Given the description of an element on the screen output the (x, y) to click on. 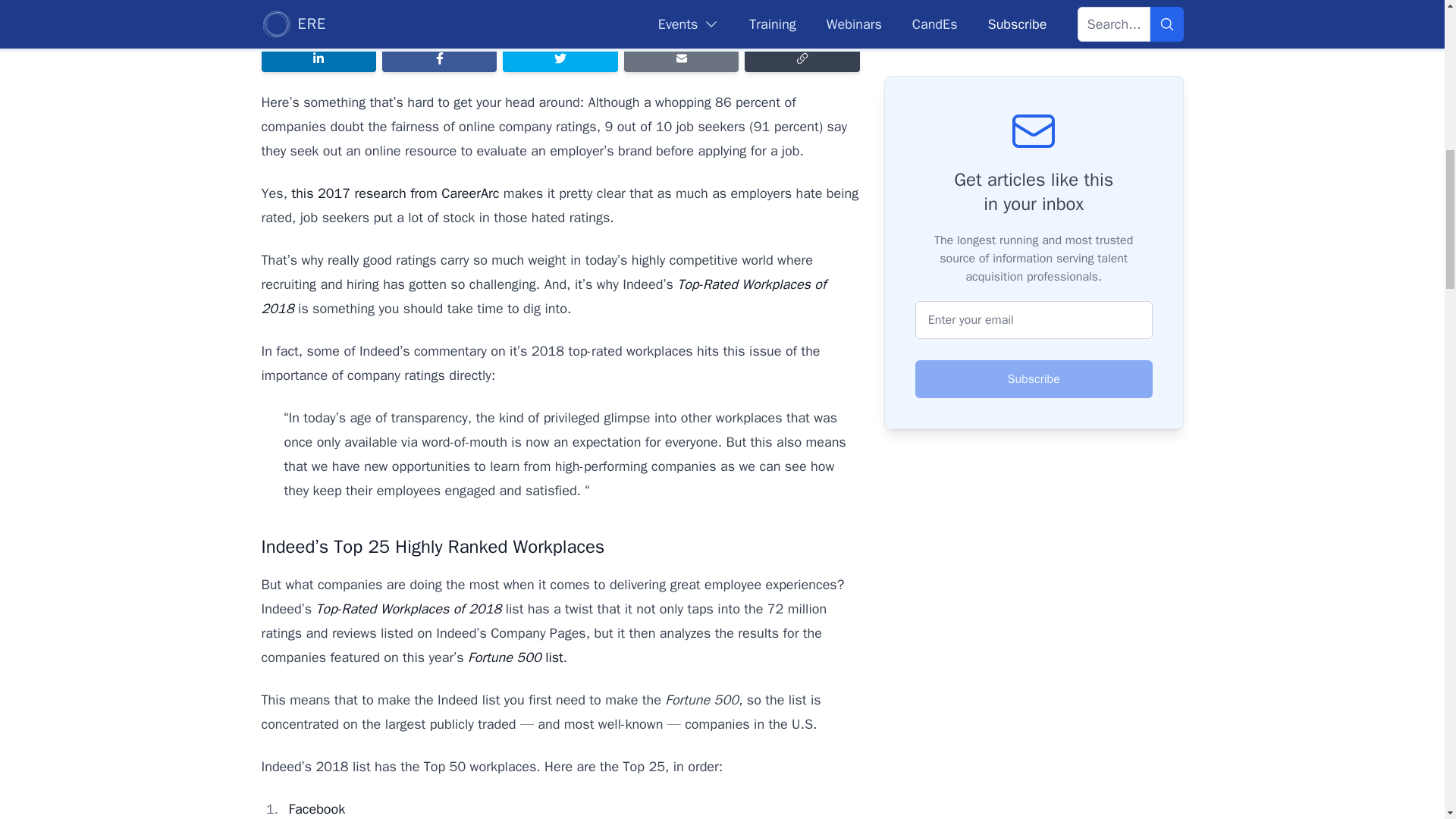
Top-Rated Workplaces of 2018 (407, 608)
this 2017 research from CareerArc (395, 193)
Fortune 500 list (515, 657)
Top-Rated Workplaces of 2018 (542, 296)
